Given the description of an element on the screen output the (x, y) to click on. 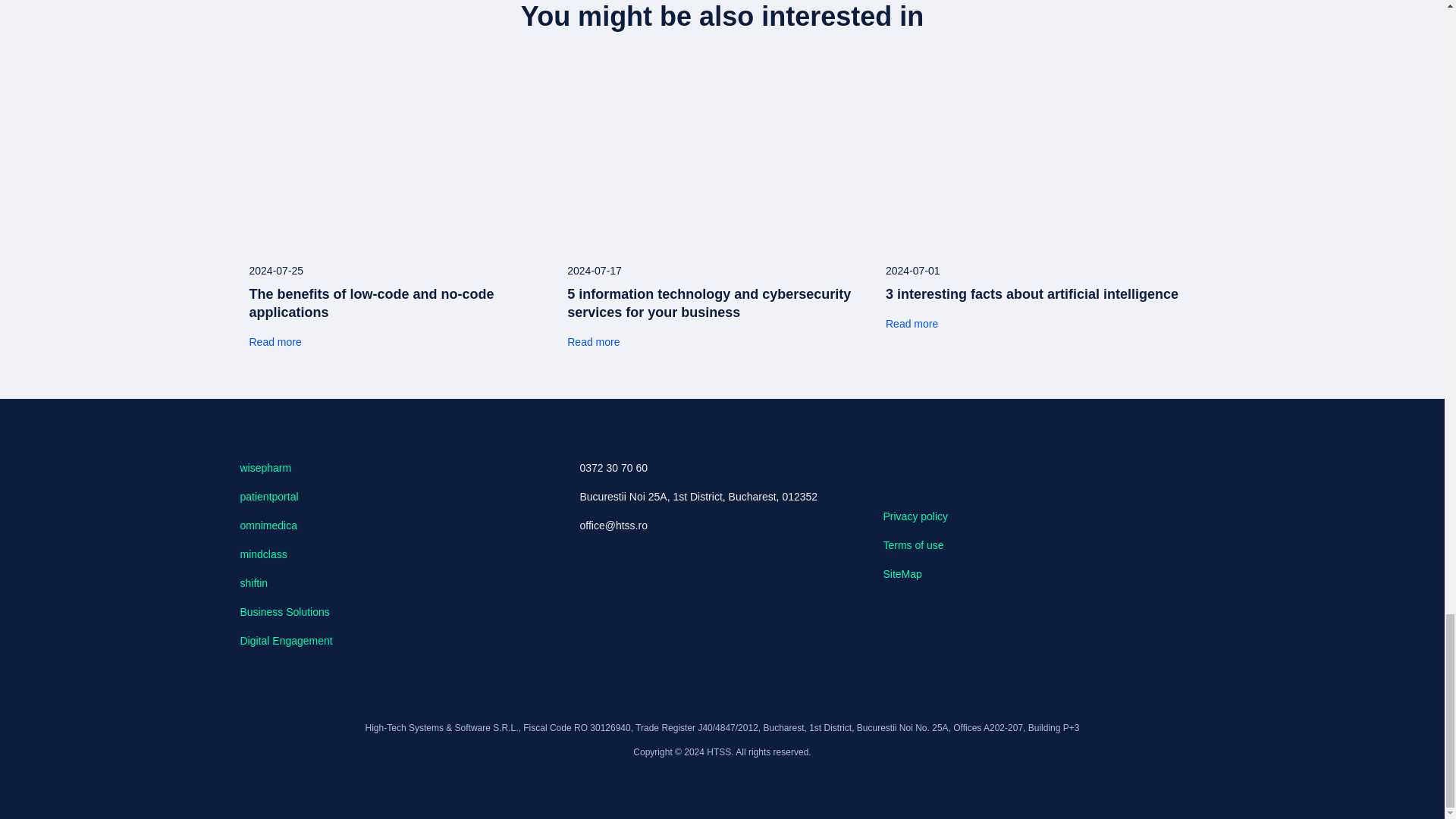
Privacy policy (914, 516)
Bucurestii Noi 25A, 1st District, Bucharest, 012352 (709, 496)
omnimedica (268, 525)
Digital Engagement (285, 640)
Business Solutions (284, 612)
wisepharm (265, 467)
mindclass (263, 553)
Terms of use (912, 544)
